Given the description of an element on the screen output the (x, y) to click on. 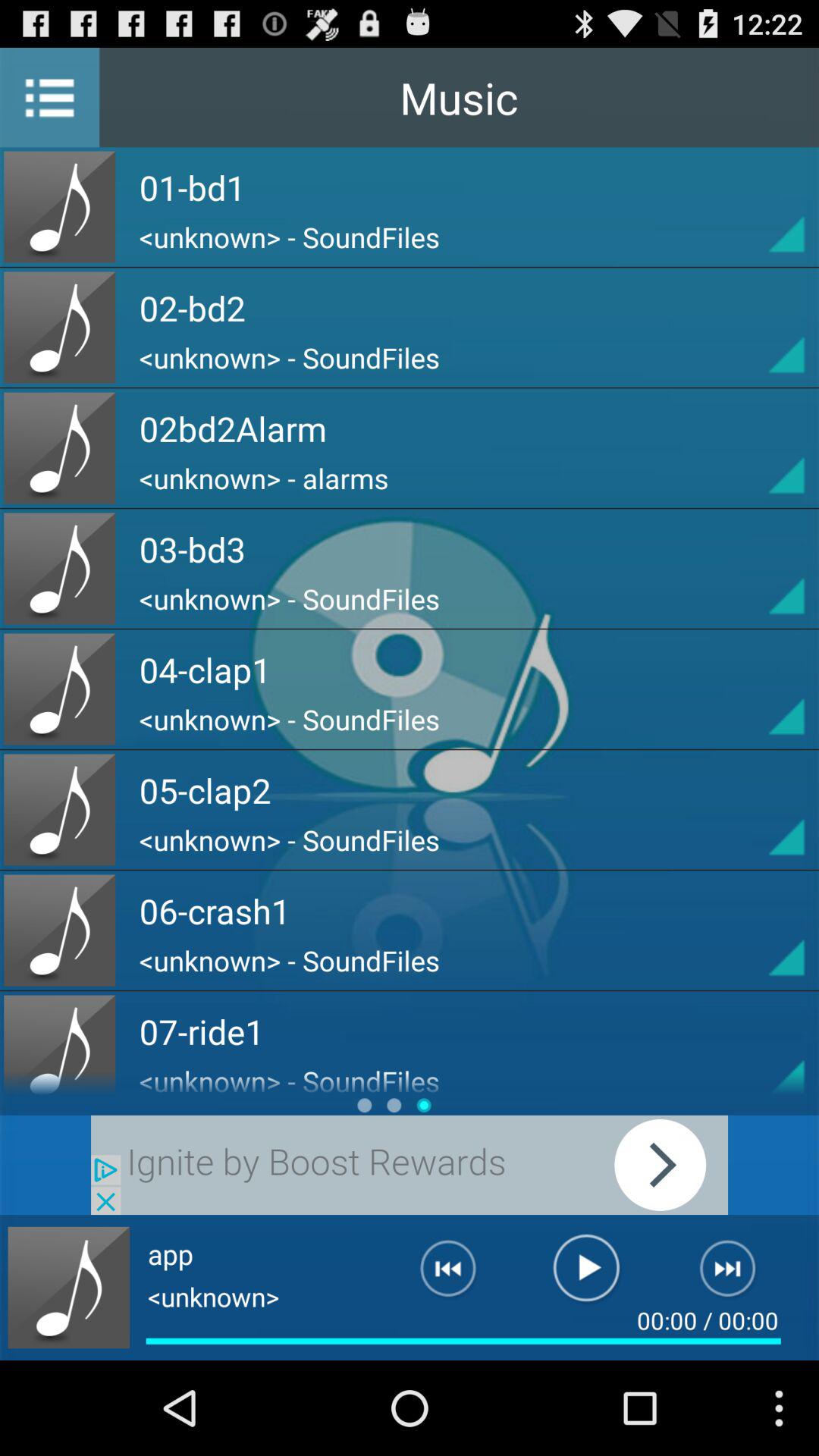
go to next (409, 1164)
